Given the description of an element on the screen output the (x, y) to click on. 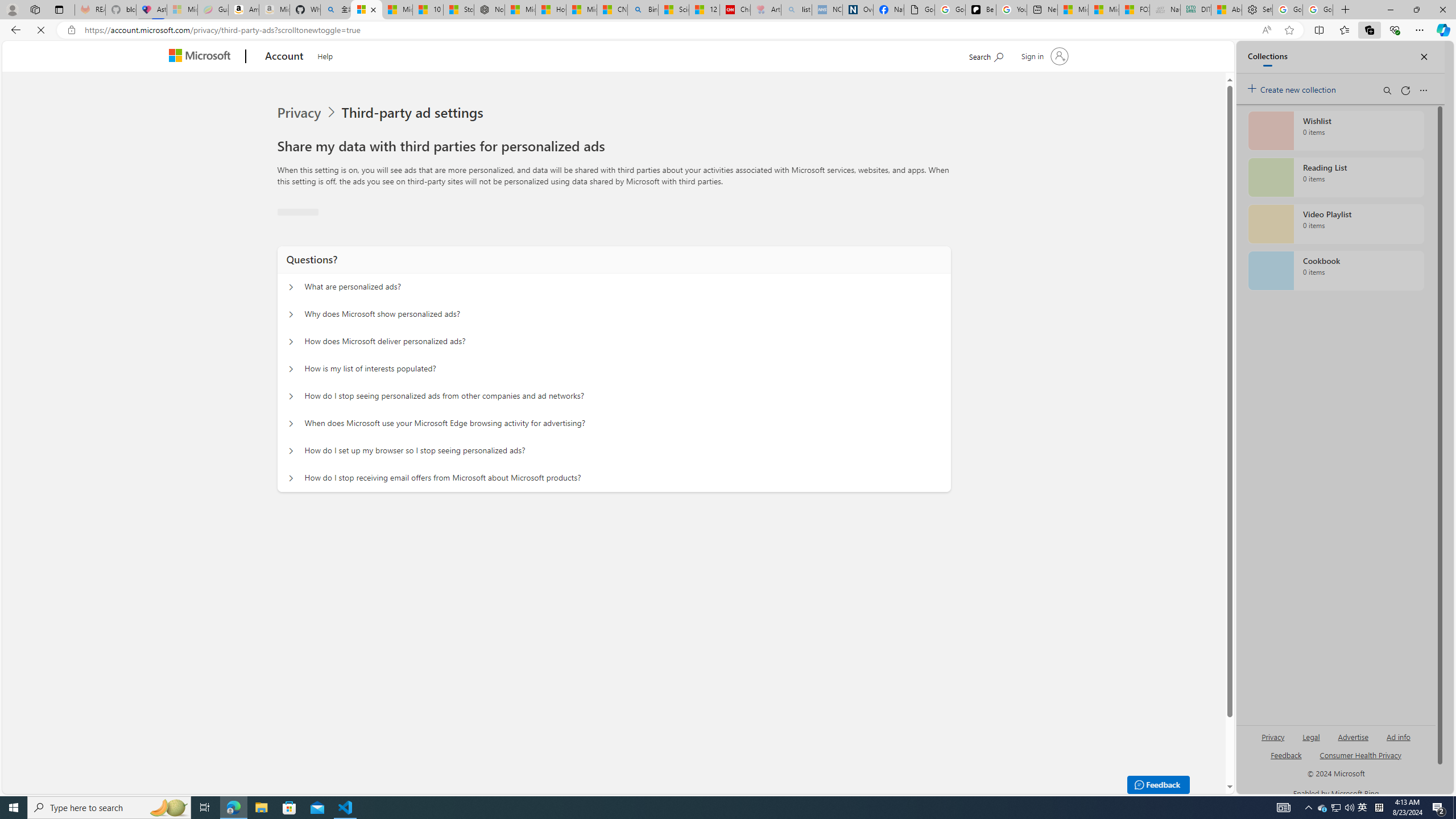
Sign in to your account (1043, 55)
Third-party ad settings (414, 112)
